Given the description of an element on the screen output the (x, y) to click on. 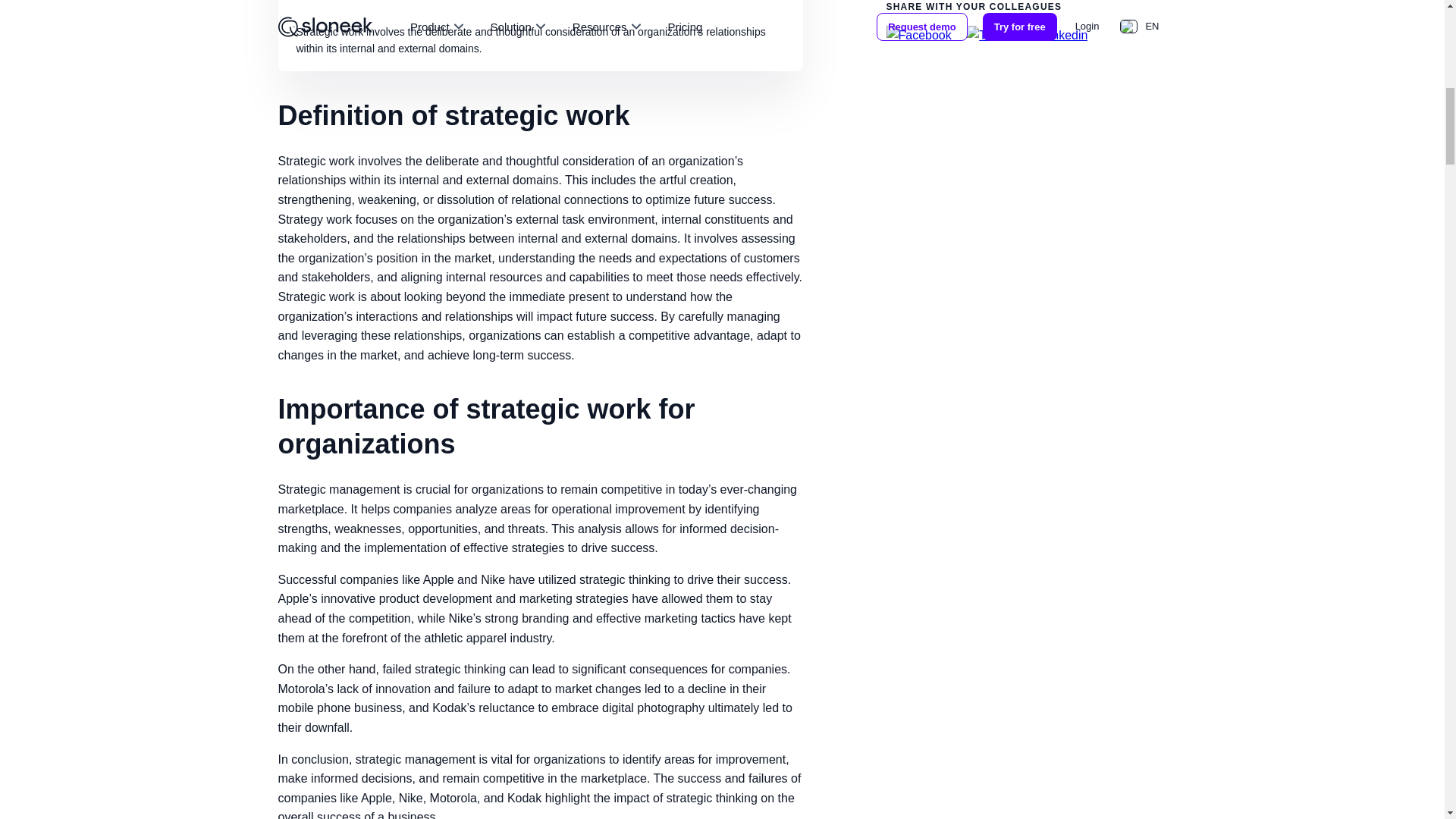
Share on Linkedin (1058, 34)
Share on Facebook (917, 34)
Share on Twitter (990, 34)
